Given the description of an element on the screen output the (x, y) to click on. 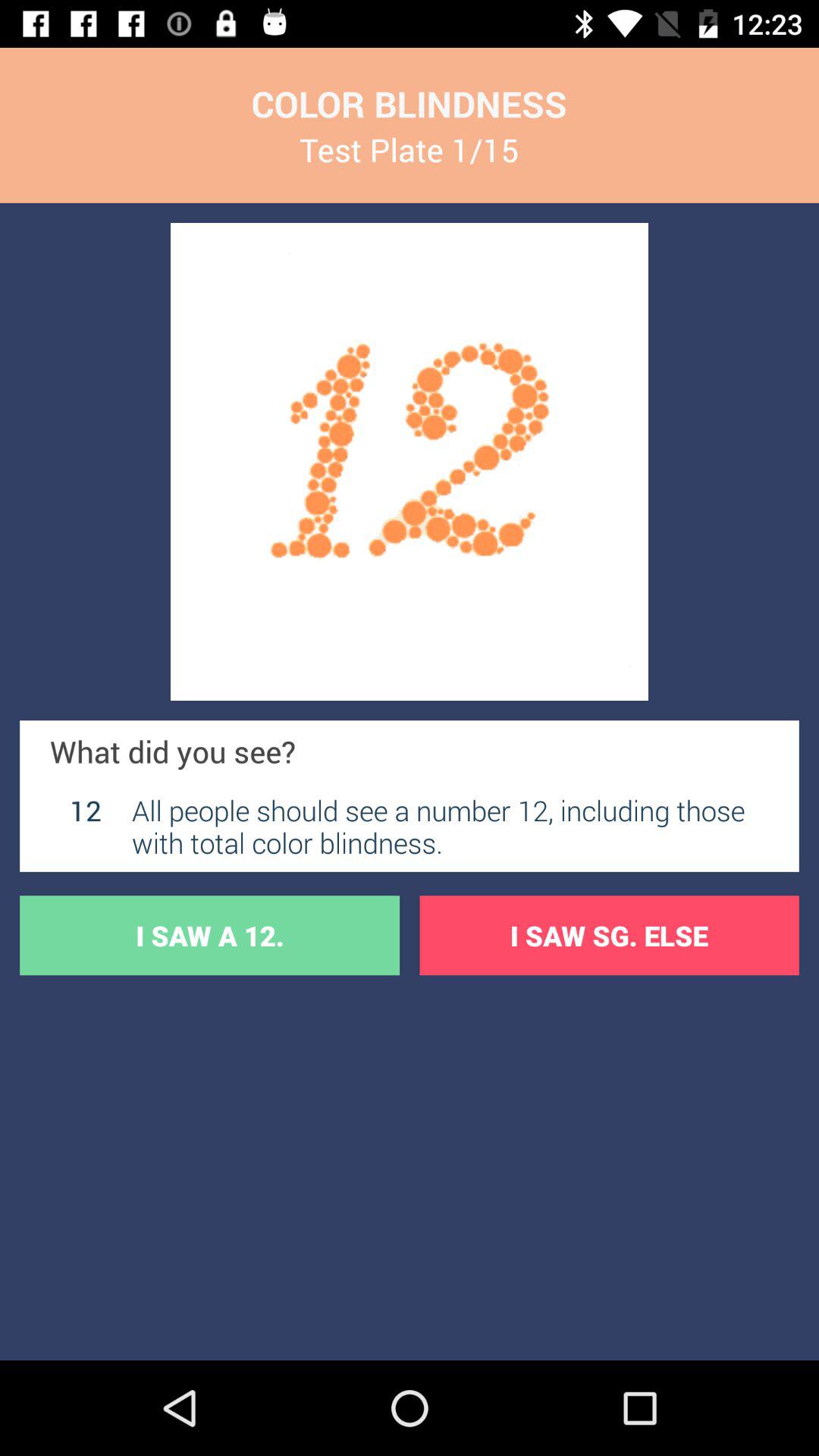
press the icon below test plate 1 (409, 461)
